Given the description of an element on the screen output the (x, y) to click on. 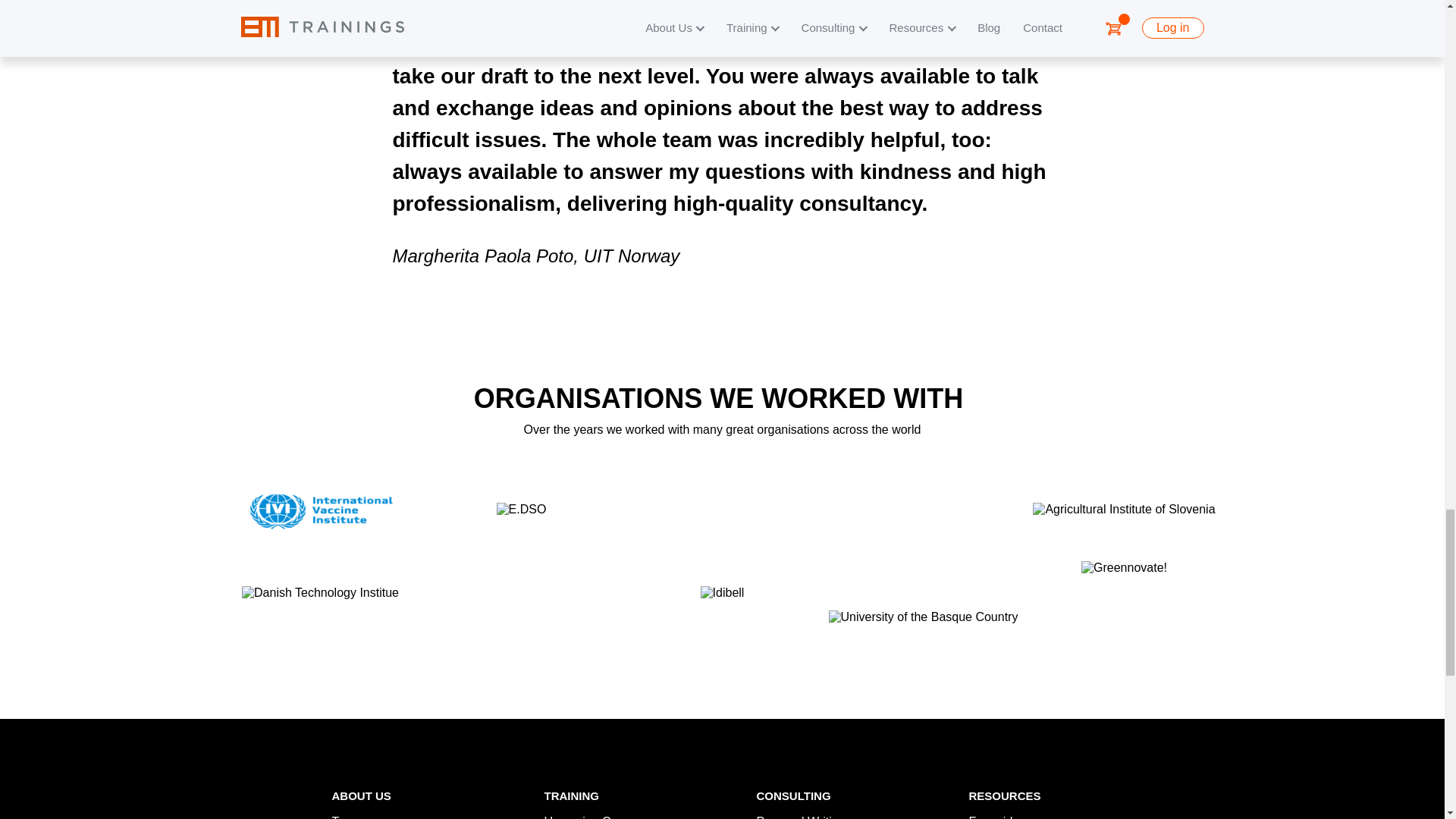
Team (346, 816)
ABOUT US (361, 795)
